Given the description of an element on the screen output the (x, y) to click on. 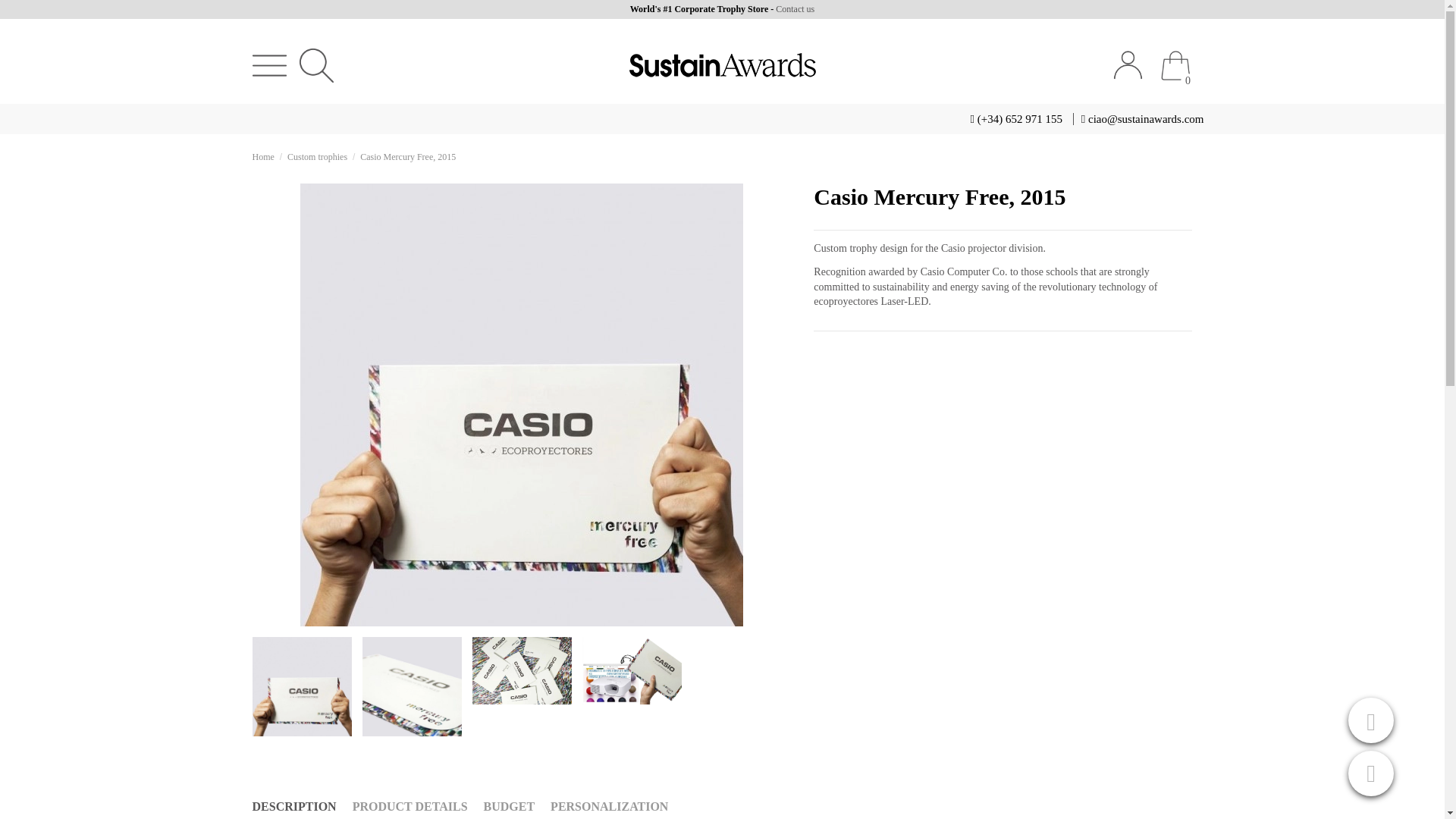
Home (262, 156)
trofeos originales casio mercury free (411, 686)
Contact us (794, 9)
0 (1175, 65)
trofeos originales casio mercury free (300, 686)
Custom trophies (316, 156)
